Given the description of an element on the screen output the (x, y) to click on. 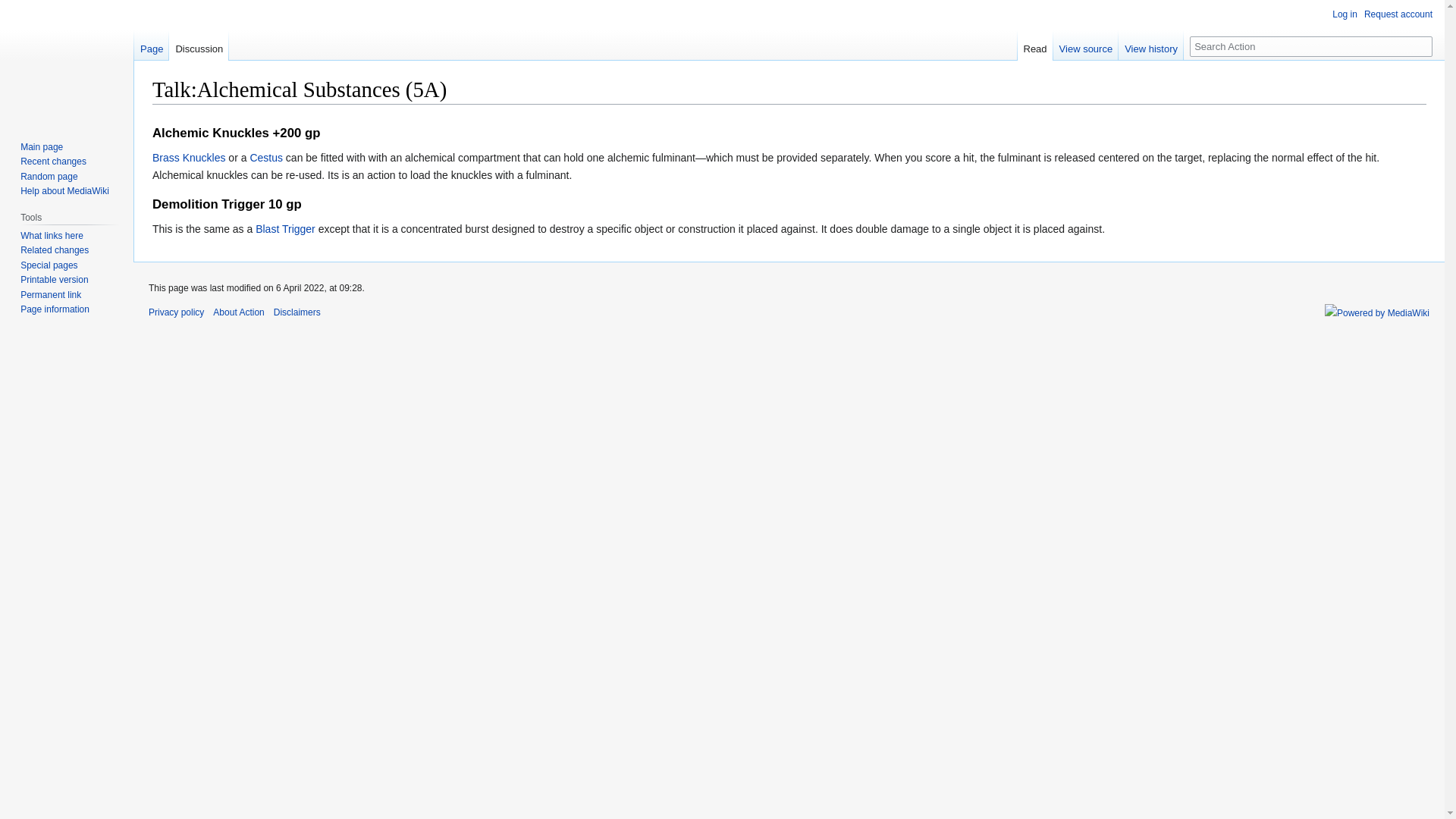
Discussion (198, 45)
Main page (41, 146)
Random page (48, 176)
Blast Trigger (285, 228)
Privacy policy (175, 312)
Cestus (265, 157)
Disclaimers (296, 312)
Log in (1344, 14)
Search (1422, 46)
